Given the description of an element on the screen output the (x, y) to click on. 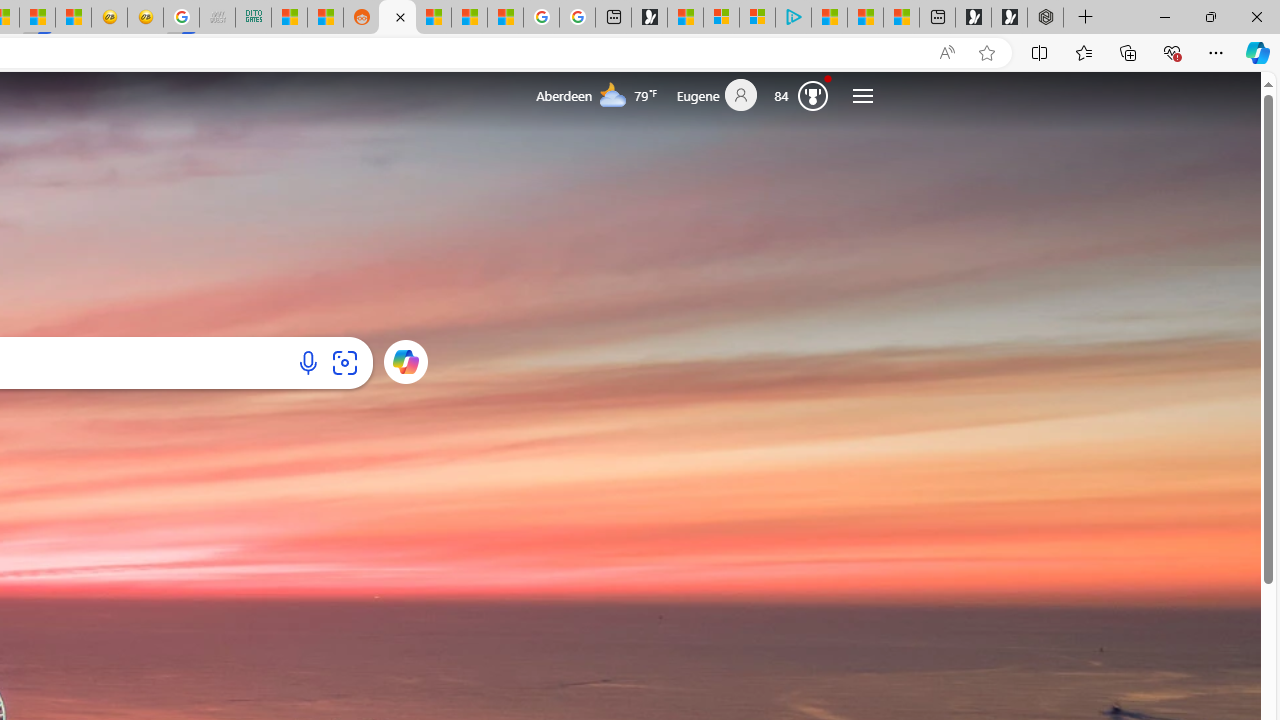
Animation (827, 78)
Search using voice (308, 362)
AutomationID: rh_meter (812, 94)
Learn more (404, 361)
Bing (397, 17)
